Given the description of an element on the screen output the (x, y) to click on. 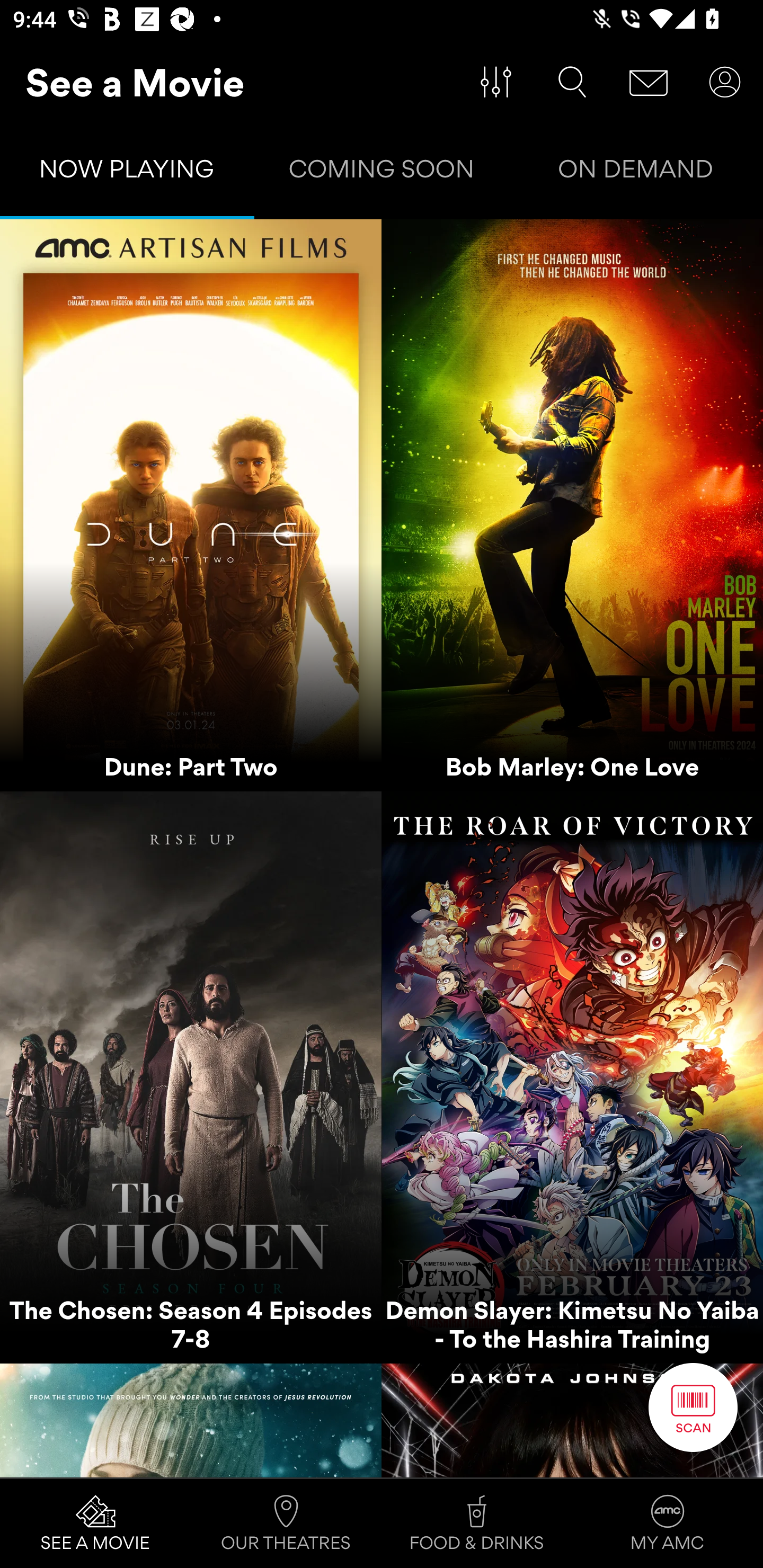
Filter Movies (495, 82)
Search (572, 82)
Message Center (648, 82)
User Account (724, 82)
NOW PLAYING
Tab 1 of 3 (127, 173)
COMING SOON
Tab 2 of 3 (381, 173)
ON DEMAND
Tab 3 of 3 (635, 173)
Dune: Part Two (190, 505)
Bob Marley: One Love (572, 505)
The Chosen: Season 4 Episodes 7-8 (190, 1077)
Scan Button (692, 1406)
SEE A MOVIE
Tab 1 of 4 (95, 1523)
OUR THEATRES
Tab 2 of 4 (285, 1523)
FOOD & DRINKS
Tab 3 of 4 (476, 1523)
MY AMC
Tab 4 of 4 (667, 1523)
